Given the description of an element on the screen output the (x, y) to click on. 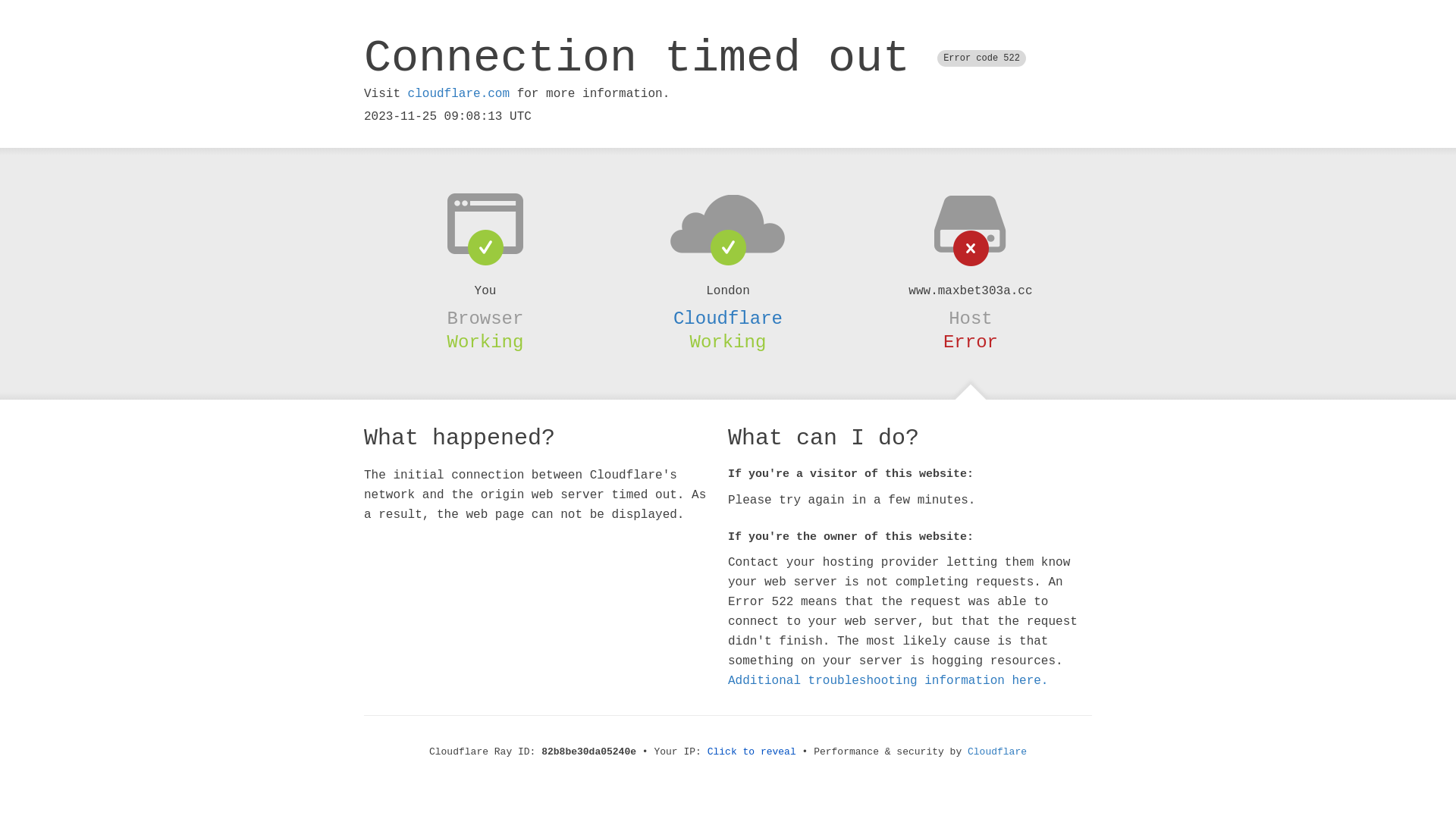
Cloudflare Element type: text (996, 751)
cloudflare.com Element type: text (458, 93)
Cloudflare Element type: text (727, 318)
Additional troubleshooting information here. Element type: text (888, 680)
Click to reveal Element type: text (751, 751)
